Given the description of an element on the screen output the (x, y) to click on. 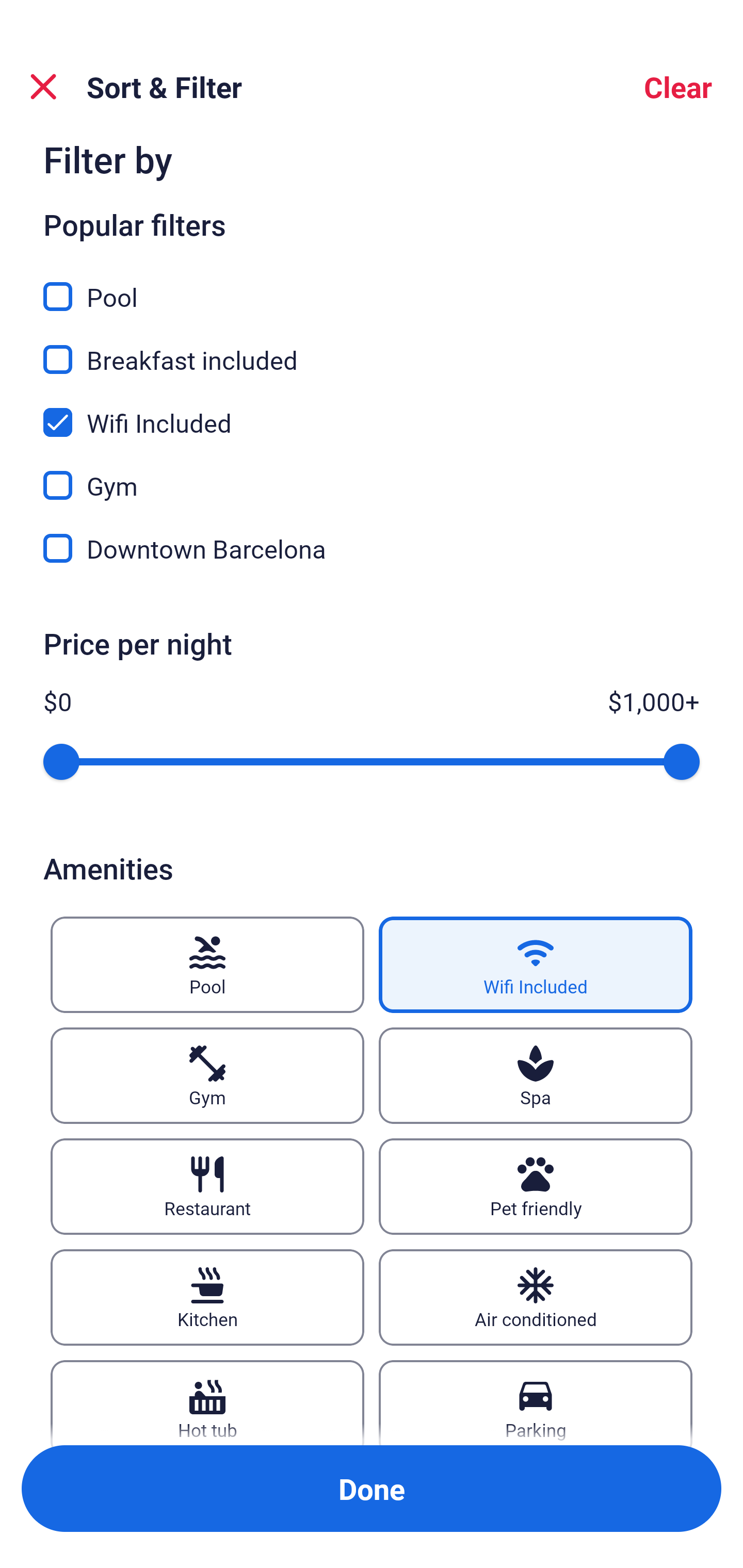
Close Sort and Filter (43, 86)
Clear (677, 86)
Pool, Pool (371, 285)
Breakfast included, Breakfast included (371, 347)
Wifi Included, Wifi Included (371, 410)
Gym, Gym (371, 473)
Downtown Barcelona, Downtown Barcelona (371, 548)
Pool (207, 964)
Wifi Included (535, 964)
Gym (207, 1075)
Spa (535, 1075)
Restaurant (207, 1186)
Pet friendly (535, 1186)
Kitchen (207, 1297)
Air conditioned (535, 1297)
Hot tub (207, 1402)
Parking (535, 1402)
Apply and close Sort and Filter Done (371, 1488)
